Given the description of an element on the screen output the (x, y) to click on. 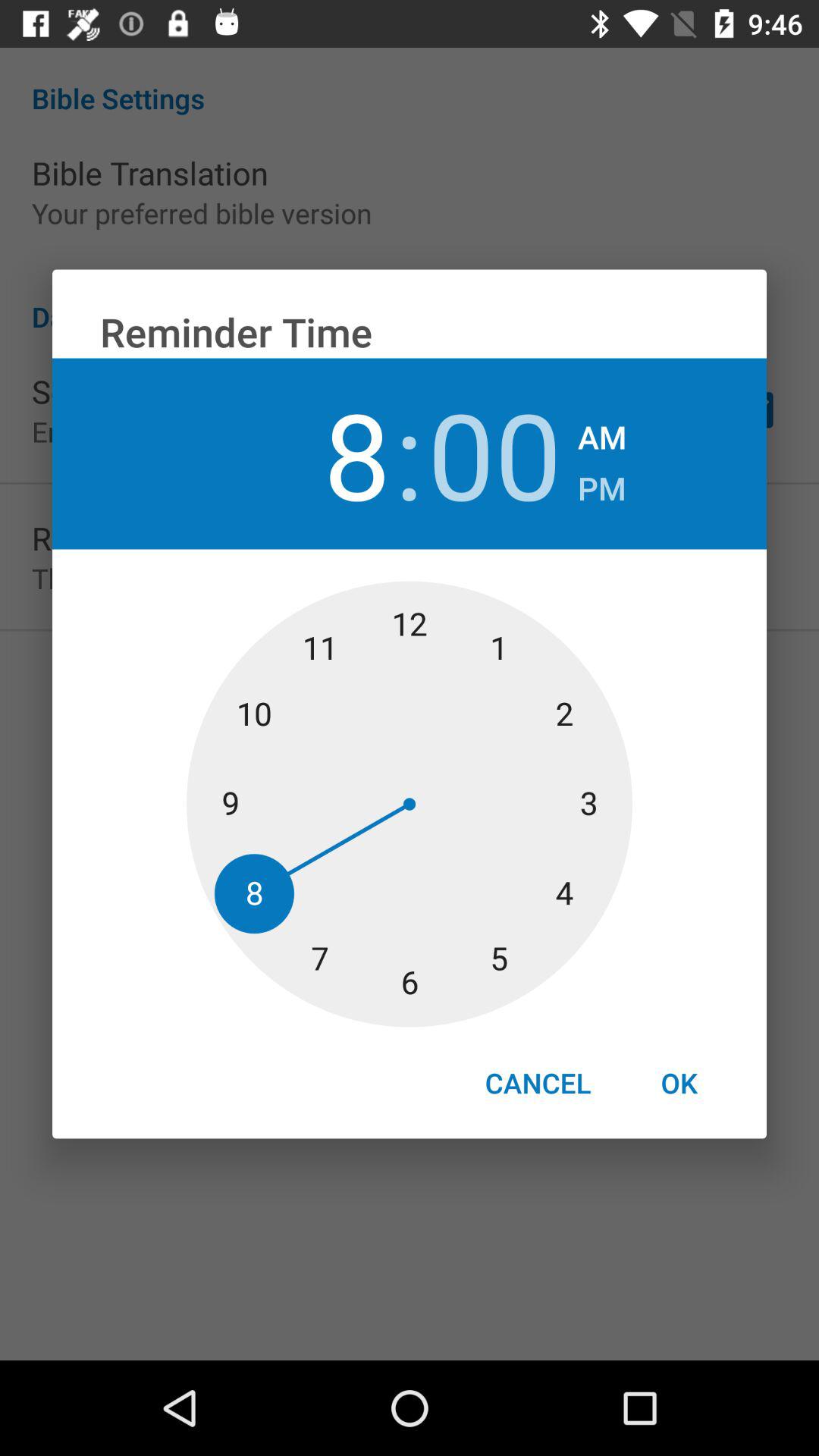
click icon to the right of 00 icon (601, 483)
